Given the description of an element on the screen output the (x, y) to click on. 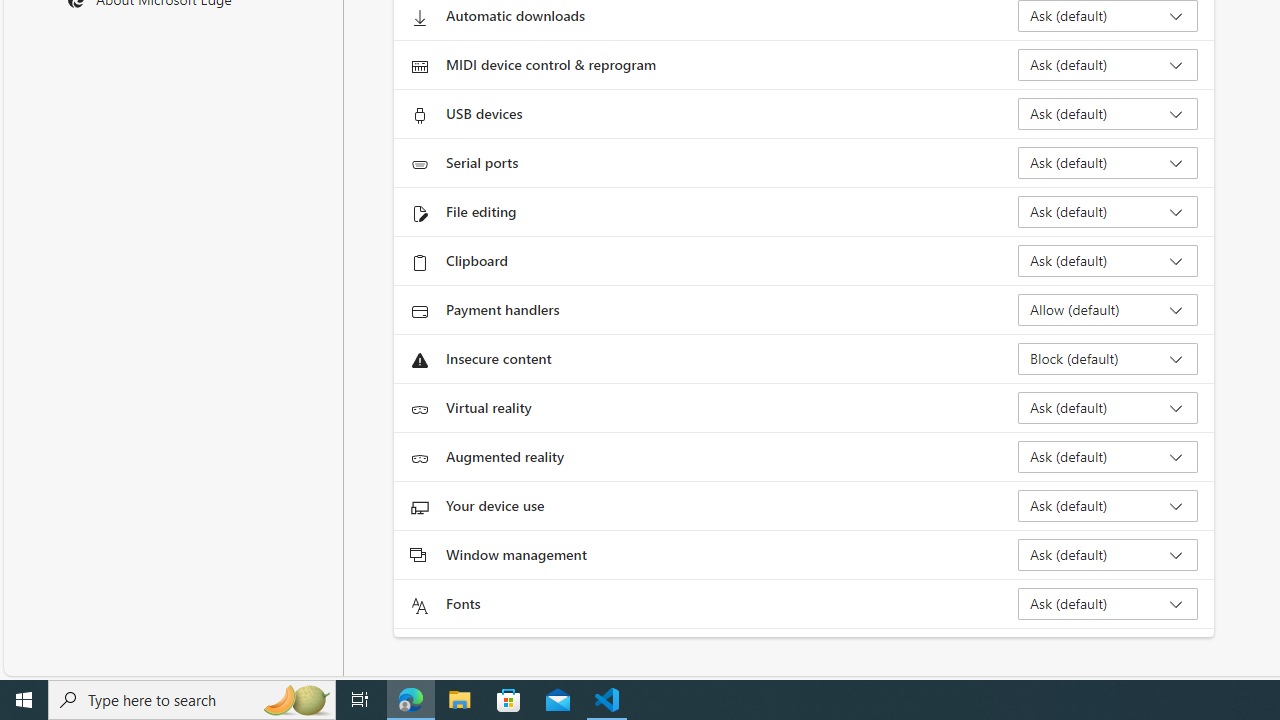
Augmented reality Ask (default) (1107, 456)
Virtual reality Ask (default) (1107, 407)
Clipboard Ask (default) (1107, 260)
Serial ports Ask (default) (1107, 162)
Fonts Ask (default) (1107, 603)
Window management Ask (default) (1107, 554)
Insecure content Block (default) (1107, 358)
USB devices Ask (default) (1107, 113)
Your device use Ask (default) (1107, 506)
File editing Ask (default) (1107, 211)
MIDI device control & reprogram Ask (default) (1107, 64)
Payment handlers Allow (default) (1107, 309)
Automatic downloads Ask (default) (1107, 15)
